Given the description of an element on the screen output the (x, y) to click on. 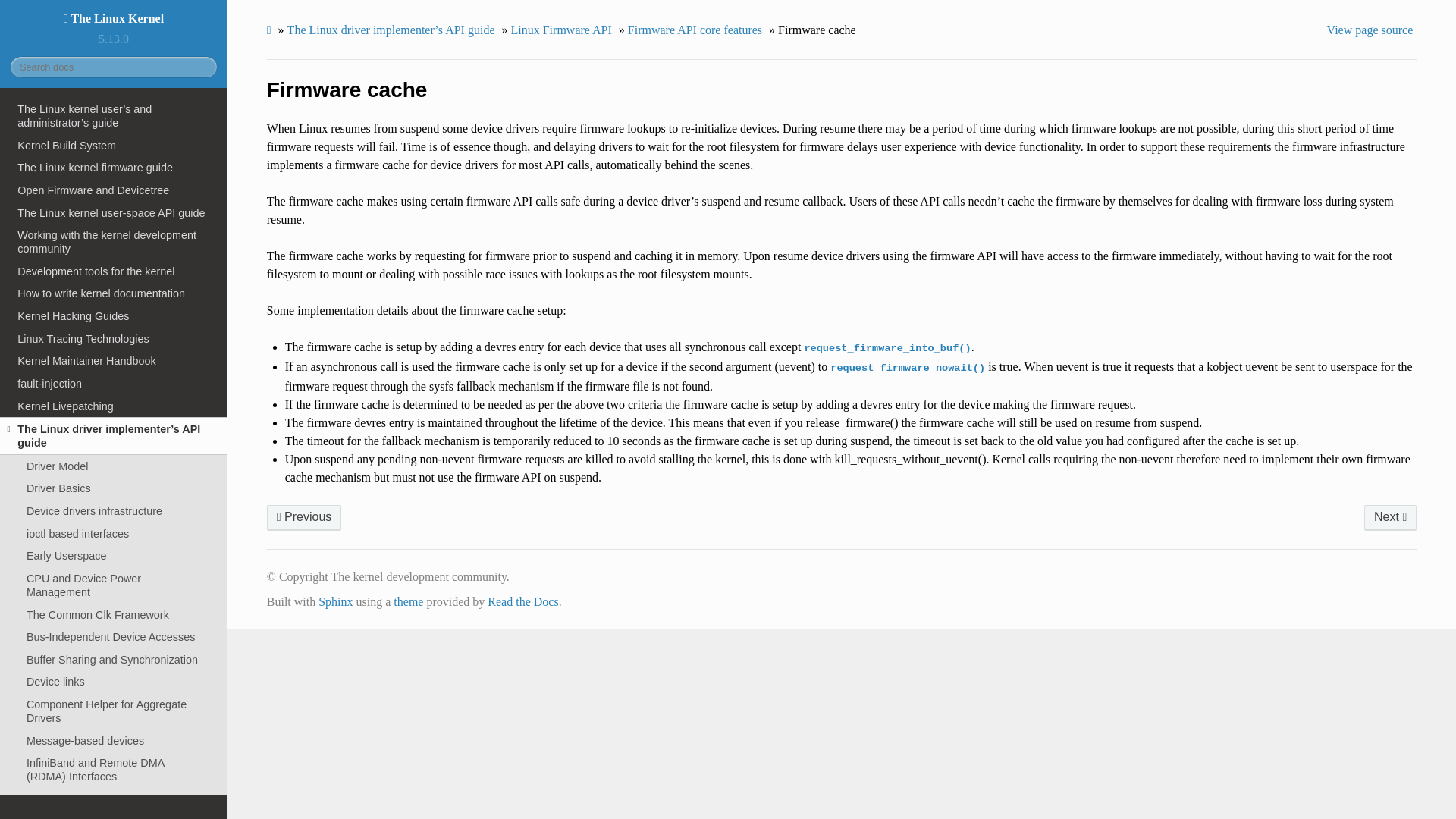
Kernel Build System (113, 145)
ioctl based interfaces (113, 533)
Kernel Livepatching (113, 405)
Development tools for the kernel (113, 271)
Kernel Hacking Guides (113, 315)
The Linux kernel user-space API guide (113, 212)
CPU and Device Power Management (113, 585)
Driver Basics (113, 488)
Component Helper for Aggregate Drivers (113, 710)
Working with the kernel development community (113, 241)
Device links (113, 681)
How to write kernel documentation (113, 293)
Frame Buffer Library (113, 798)
Built-in firmware (304, 517)
The Linux kernel firmware guide (113, 167)
